Given the description of an element on the screen output the (x, y) to click on. 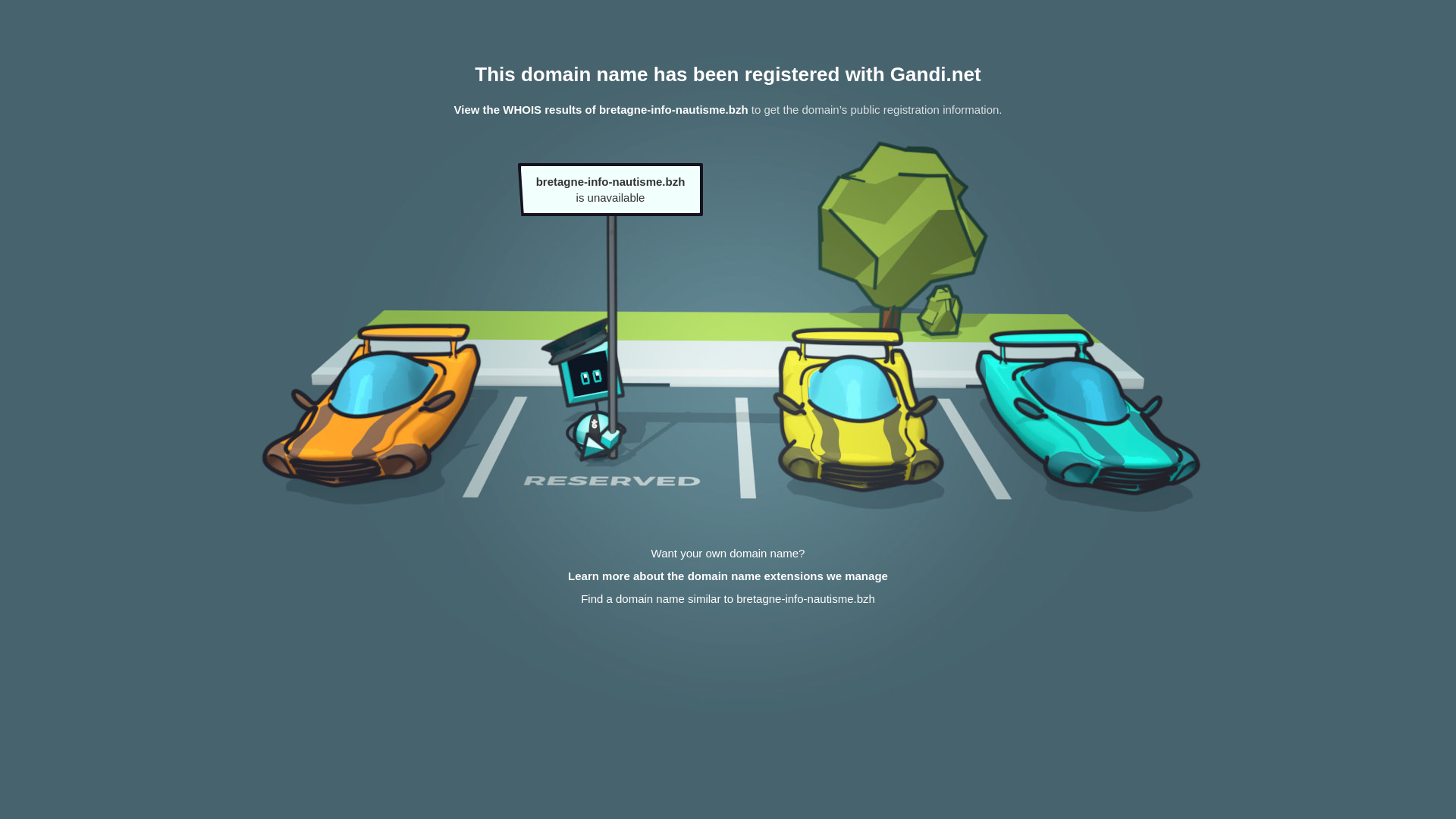
View the WHOIS results of bretagne-info-nautisme.bzh Element type: text (600, 109)
Find a domain name similar to bretagne-info-nautisme.bzh Element type: text (727, 598)
Learn more about the domain name extensions we manage Element type: text (727, 575)
